Given the description of an element on the screen output the (x, y) to click on. 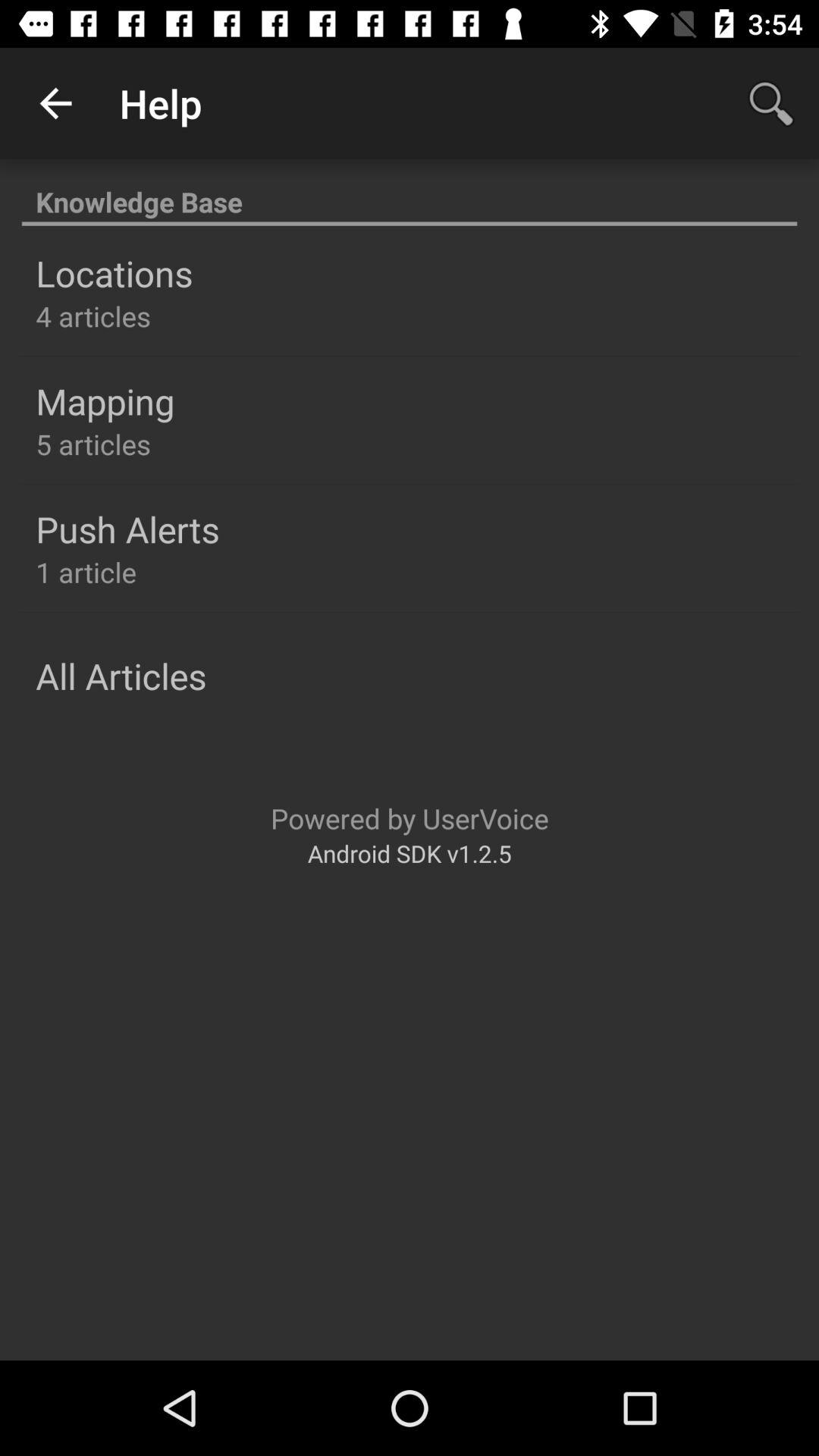
press the 1 article item (85, 571)
